Given the description of an element on the screen output the (x, y) to click on. 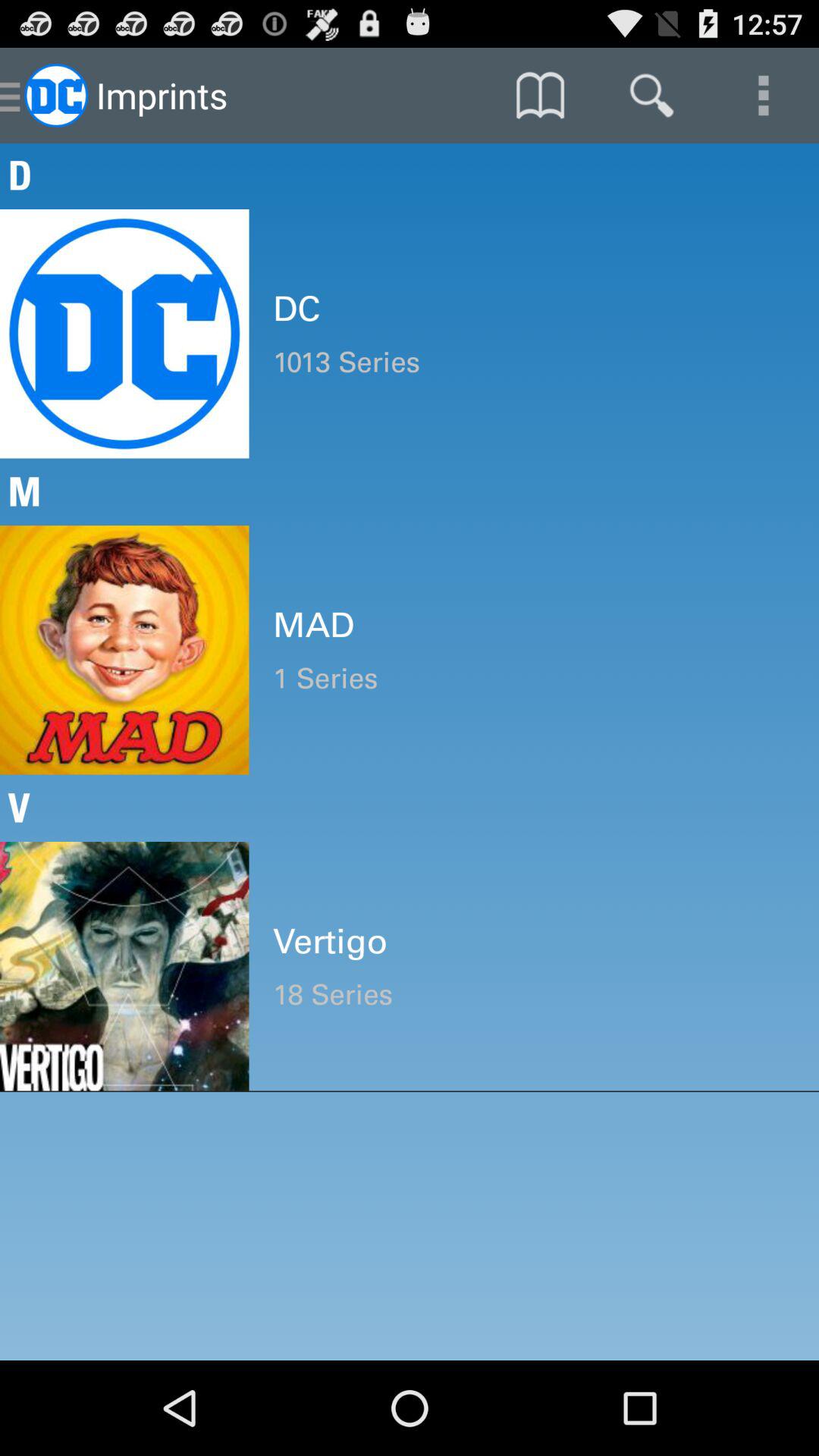
launch item below the v item (534, 940)
